Given the description of an element on the screen output the (x, y) to click on. 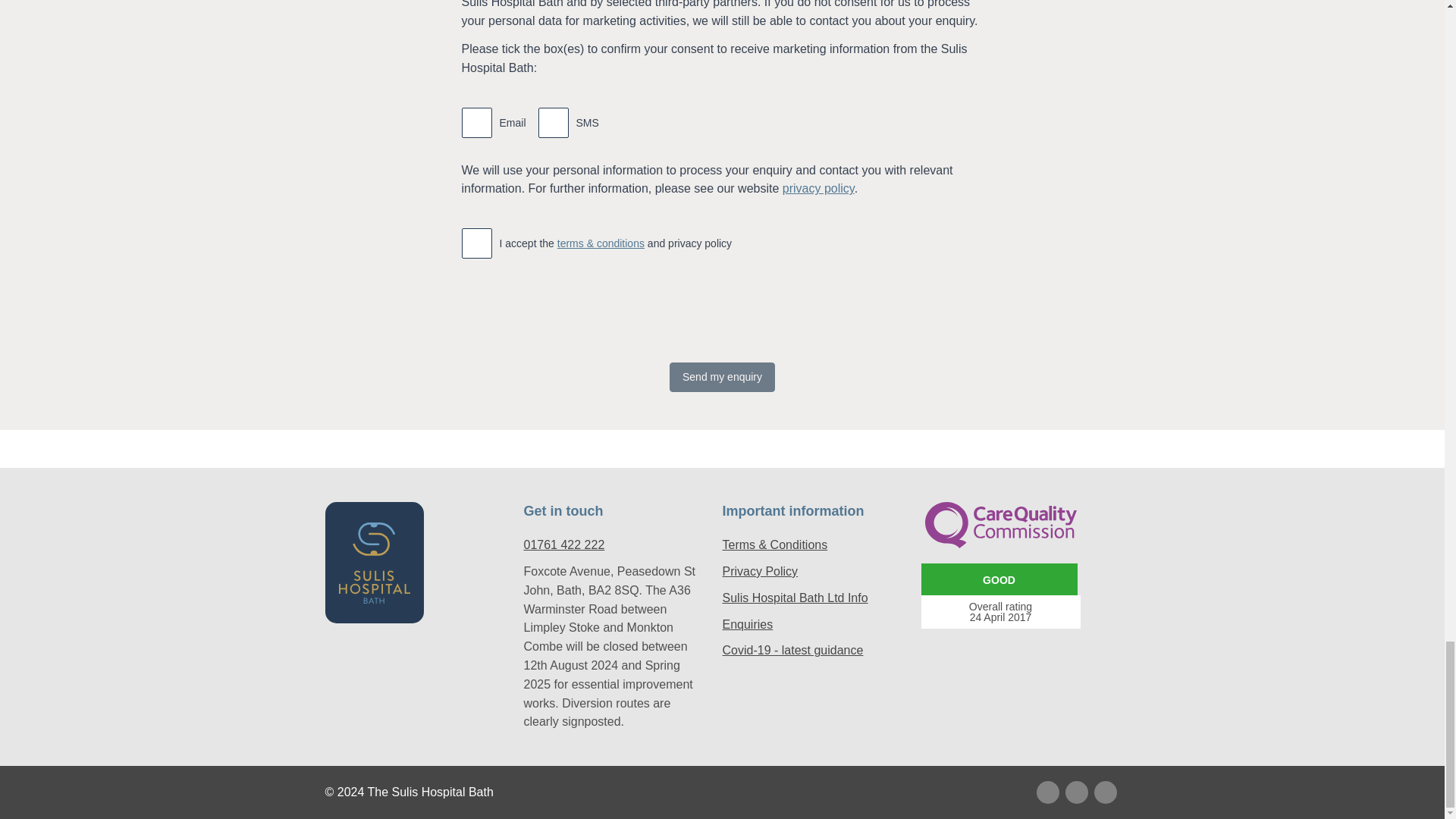
reCAPTCHA (691, 320)
Open Twitter in a new window (1046, 792)
Open LinkedIn in a new window (1104, 792)
Open Facebook in a new window (1075, 792)
